Given the description of an element on the screen output the (x, y) to click on. 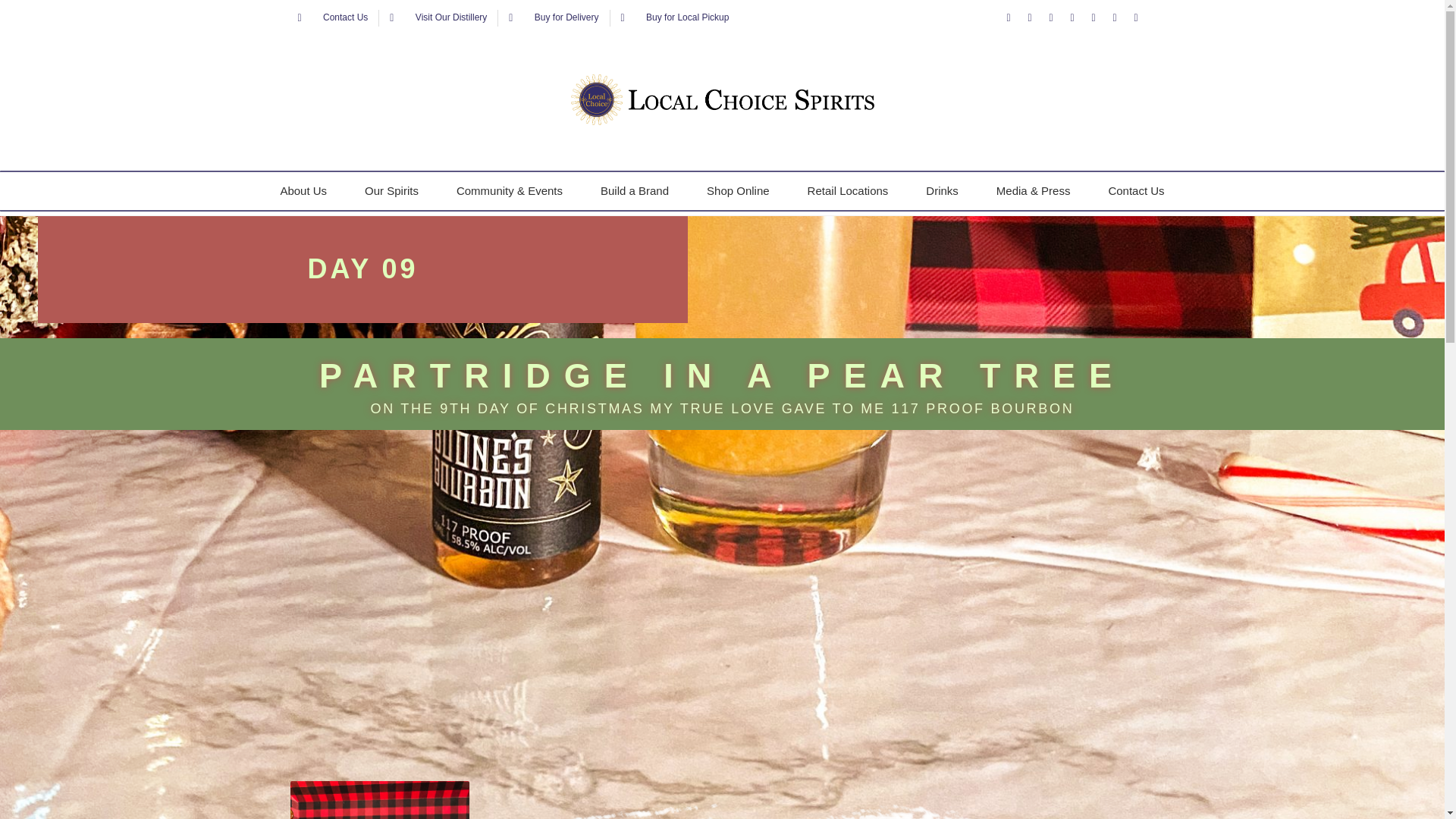
About Us (303, 190)
Buy for Delivery (553, 17)
Retail Locations (848, 190)
Contact Us (332, 17)
Drinks (941, 190)
Our Spirits (392, 190)
Visit Our Distillery (438, 17)
Buy for Local Pickup (675, 17)
Build a Brand (633, 190)
Shop Online (738, 190)
Contact Us (1135, 190)
